Given the description of an element on the screen output the (x, y) to click on. 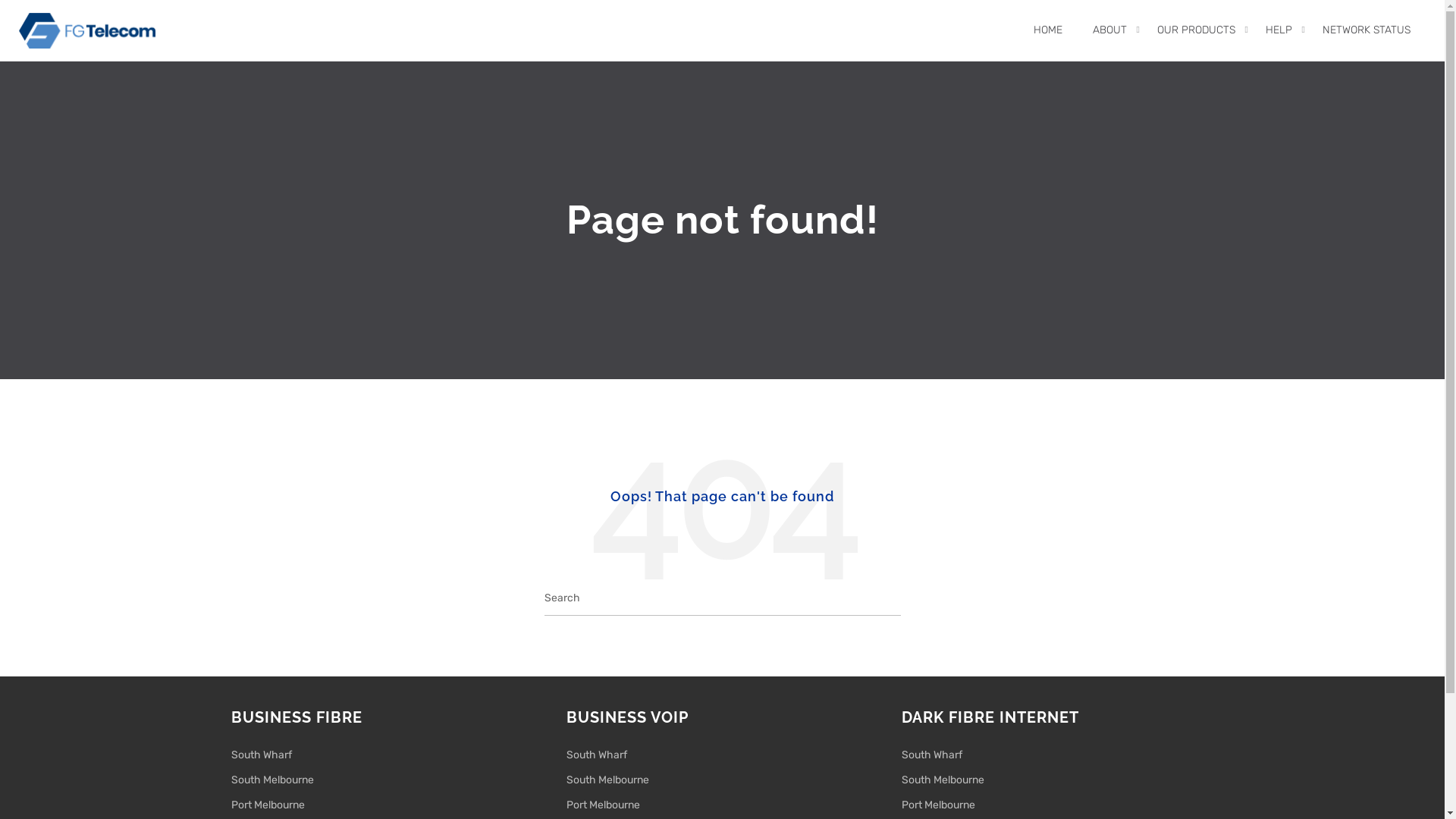
South Melbourne Element type: text (606, 779)
Port Melbourne Element type: text (602, 804)
South Wharf Element type: text (595, 754)
South Melbourne Element type: text (271, 779)
HELP Element type: text (1278, 29)
South Melbourne Element type: text (941, 779)
NETWORK STATUS Element type: text (1366, 29)
South Wharf Element type: text (930, 754)
Port Melbourne Element type: text (937, 804)
OUR PRODUCTS Element type: text (1196, 29)
ABOUT Element type: text (1109, 29)
HOME Element type: text (1047, 29)
South Wharf Element type: text (260, 754)
Port Melbourne Element type: text (267, 804)
